Given the description of an element on the screen output the (x, y) to click on. 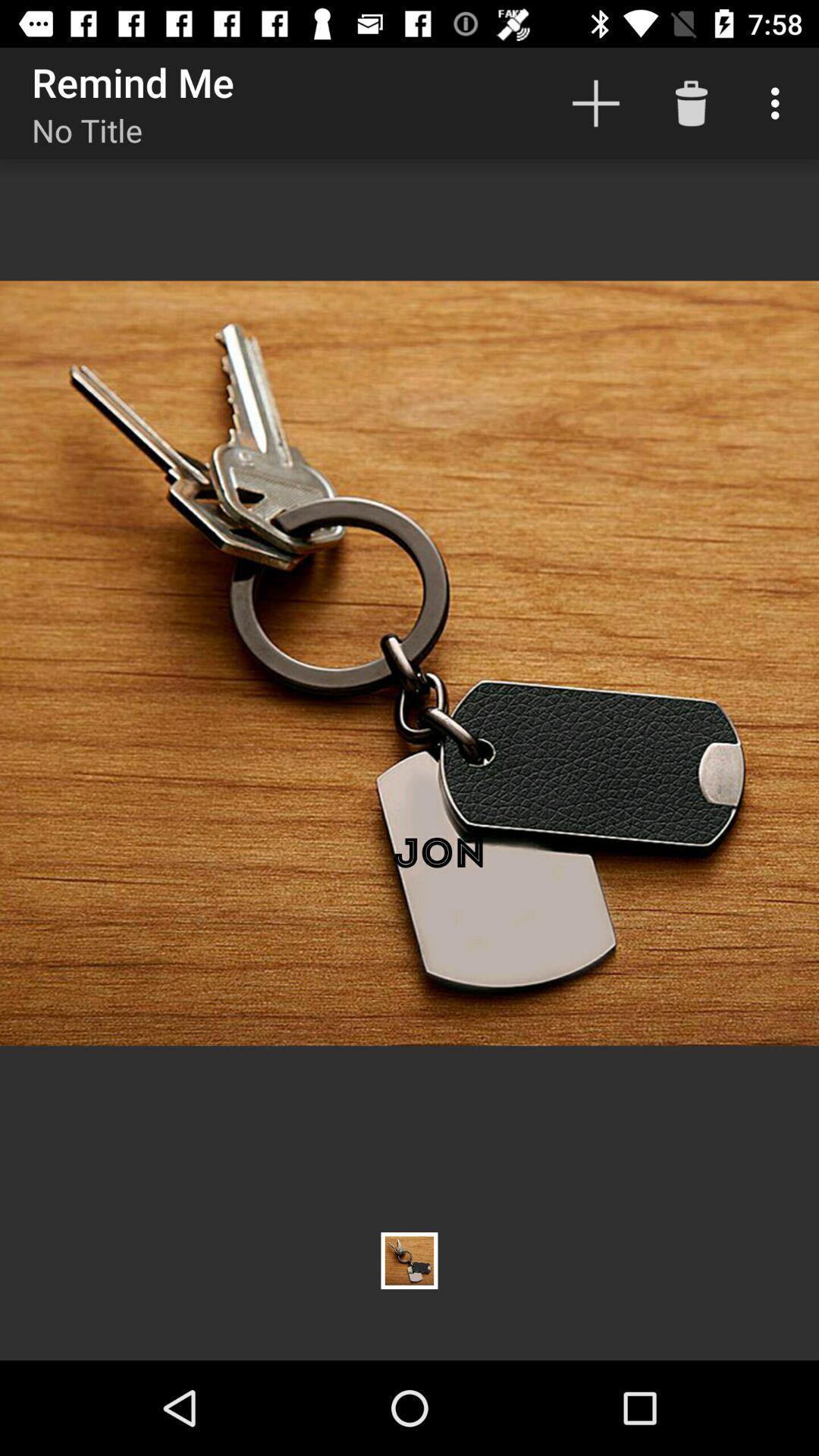
open the icon at the center (409, 663)
